Given the description of an element on the screen output the (x, y) to click on. 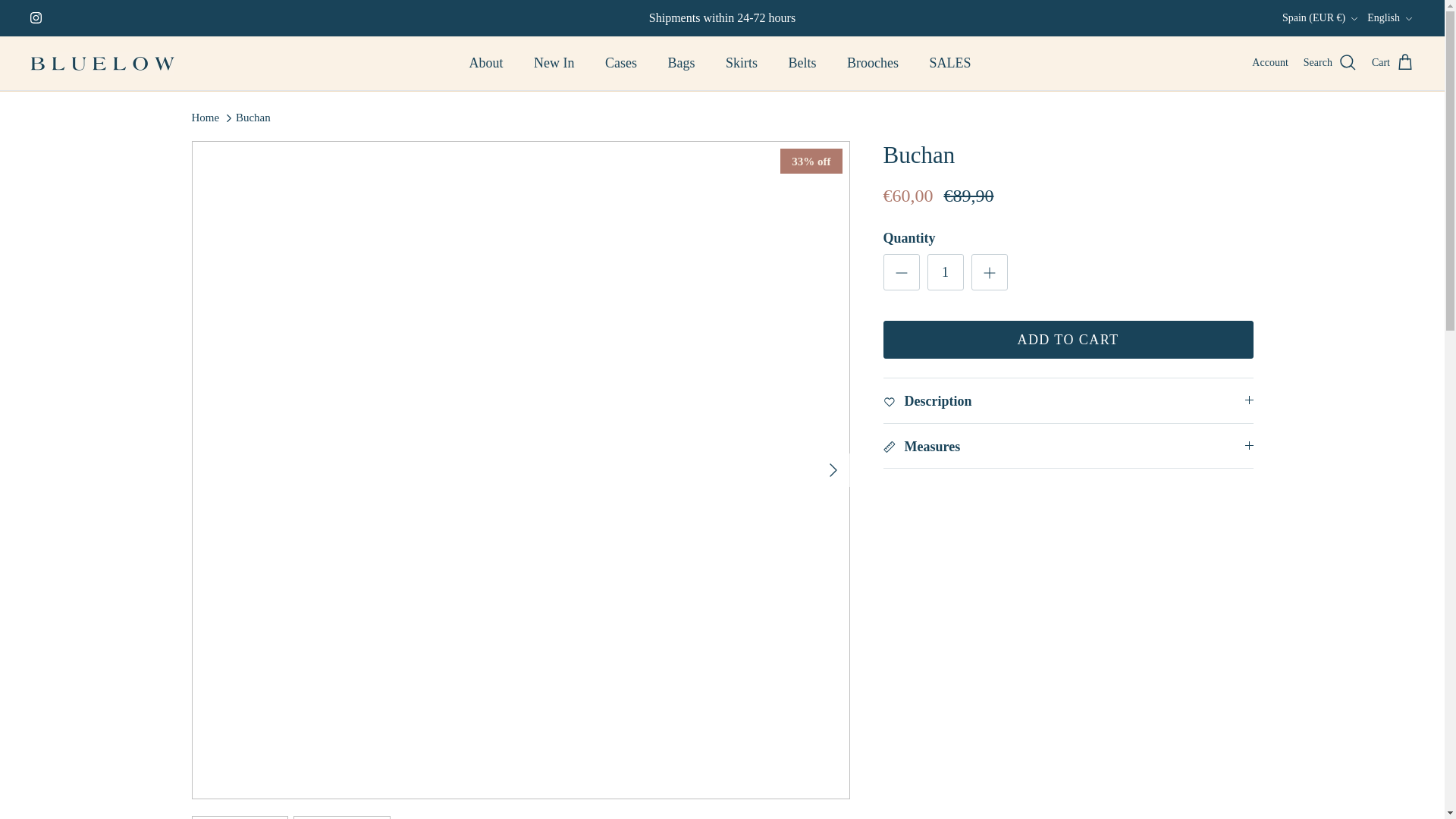
Down (1408, 18)
RIGHT (832, 469)
Instagram (36, 17)
BLUELOW (102, 63)
Down (1354, 18)
Instagram (36, 17)
1 (944, 271)
Minus (900, 272)
Plus (988, 272)
